Given the description of an element on the screen output the (x, y) to click on. 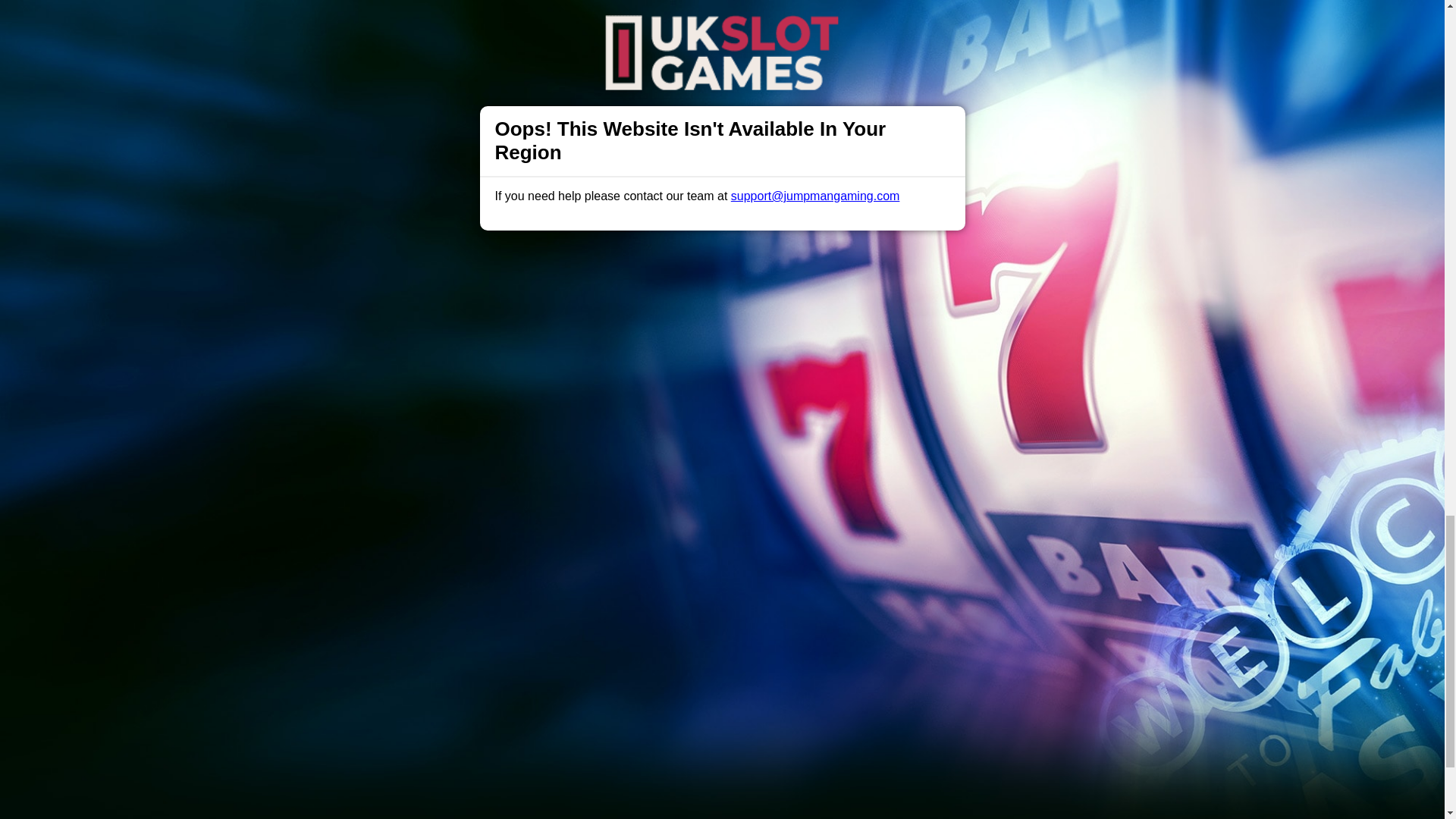
Responsible Gaming (407, 621)
Back To All Games (721, 522)
Lucky Leprechaun Online Slot (765, 374)
Help (489, 621)
Thunderstruck II UK Slot (785, 380)
Affiliates (791, 621)
Privacy Policy (671, 621)
Back To All Games (722, 522)
Blog (738, 621)
